Given the description of an element on the screen output the (x, y) to click on. 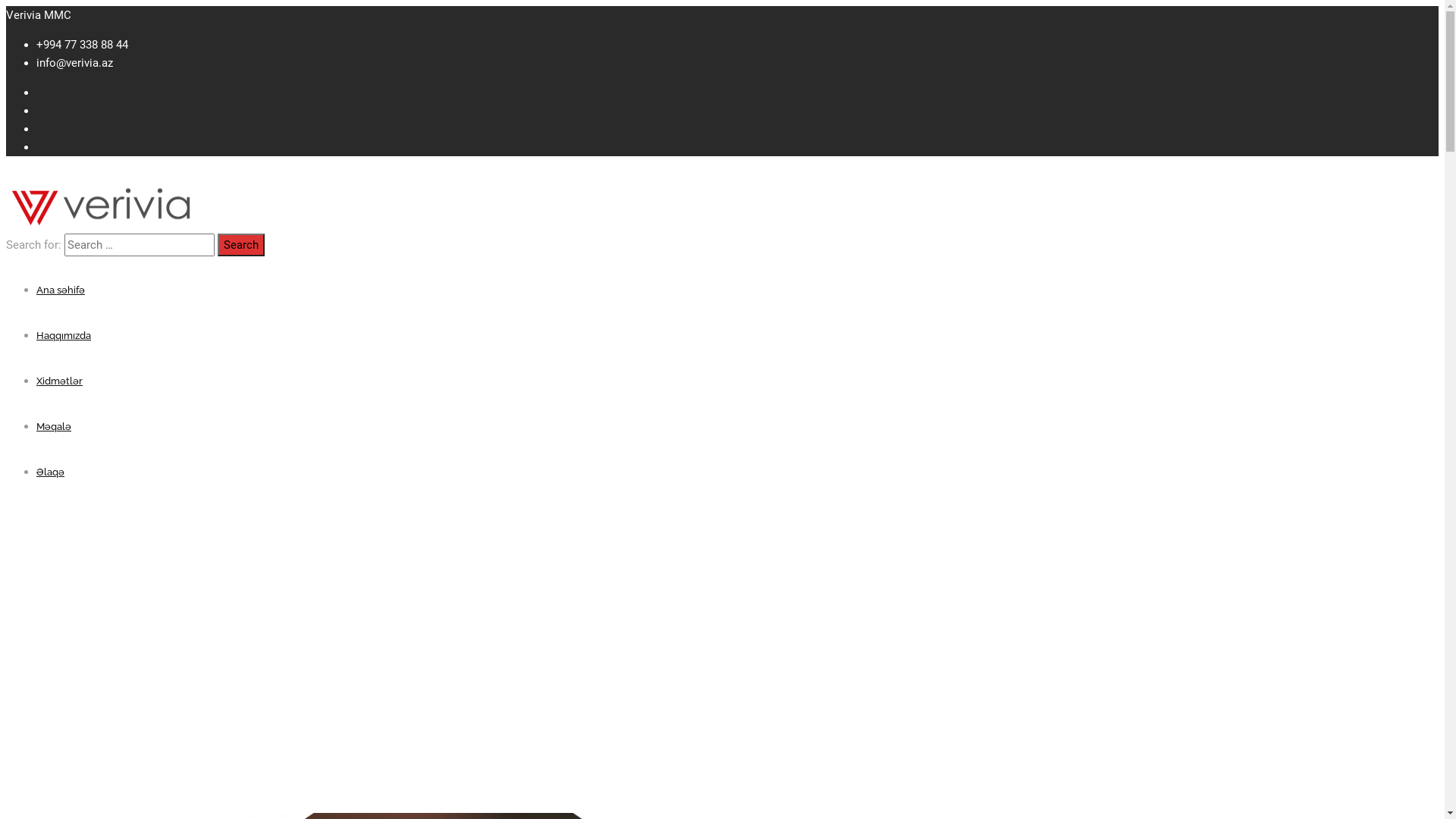
Verivia Element type: hover (100, 224)
RV Element type: text (69, 654)
Search Element type: text (240, 244)
